Given the description of an element on the screen output the (x, y) to click on. 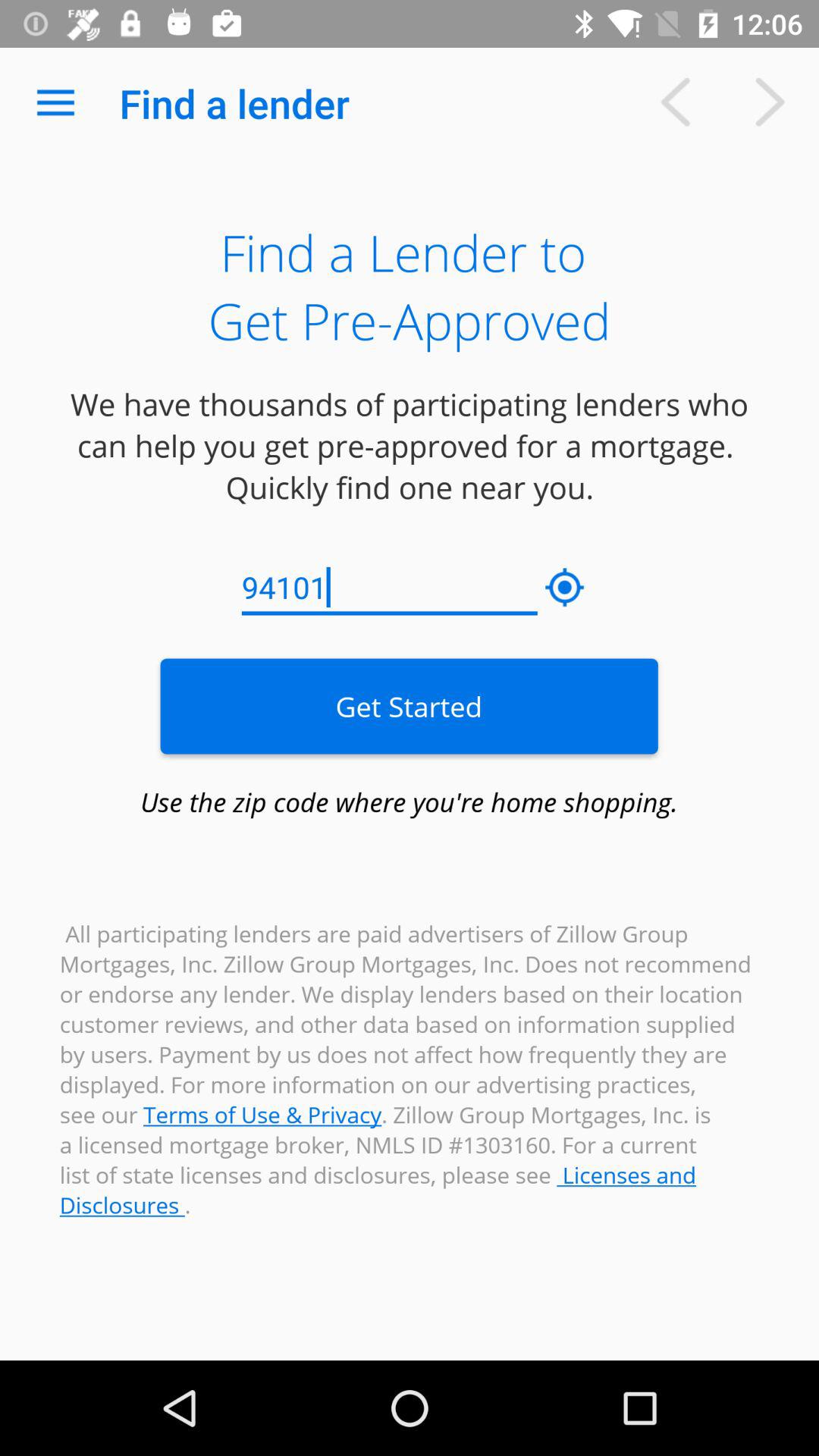
click icon above the get started (565, 587)
